Given the description of an element on the screen output the (x, y) to click on. 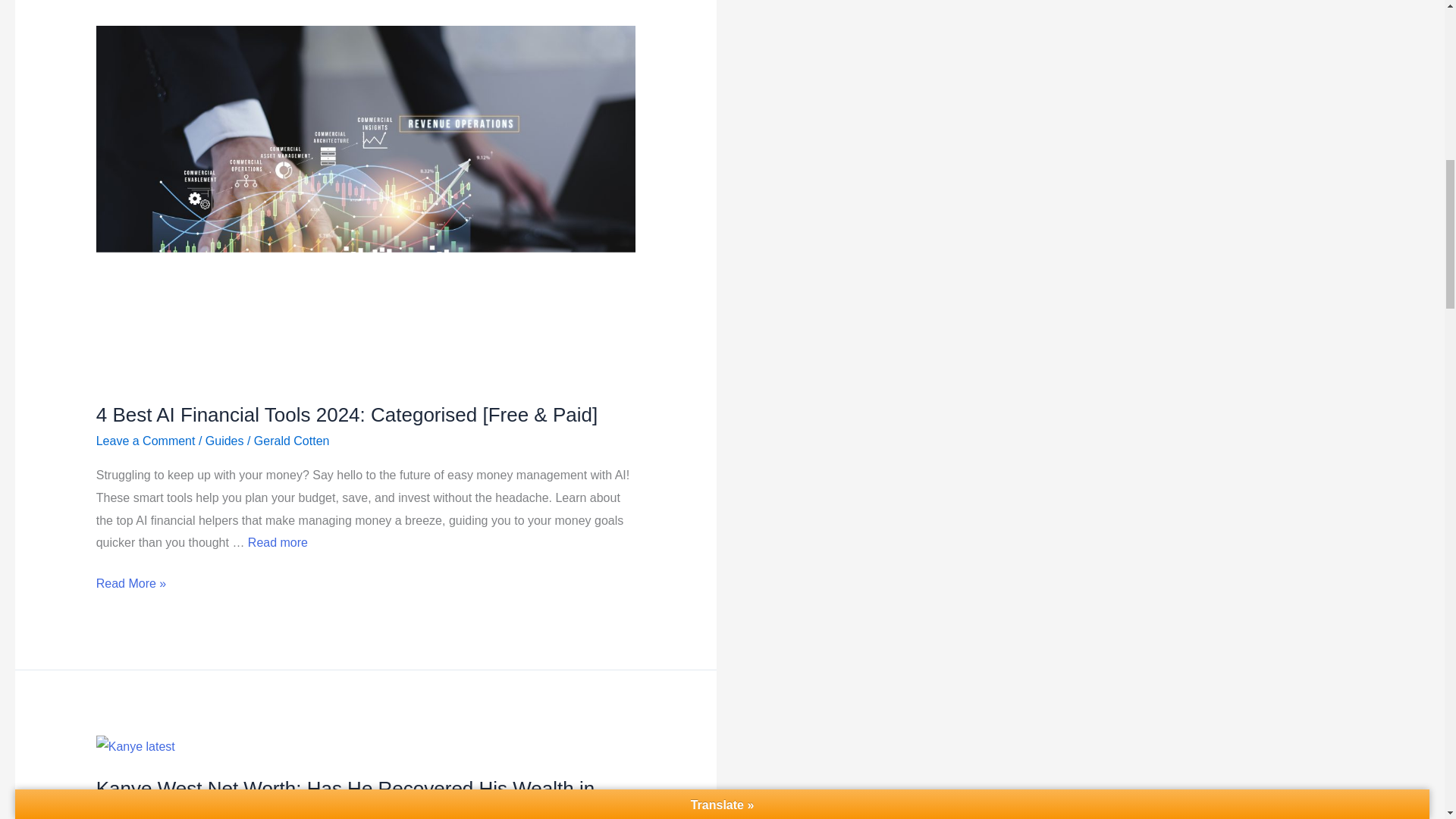
Gerald Cotten (291, 440)
Guides (224, 440)
Read more (277, 542)
Kanye West Net Worth: Has He Recovered His Wealth in 2024? (345, 798)
Leave a Comment (145, 440)
View all posts by Gerald Cotten (291, 440)
